Given the description of an element on the screen output the (x, y) to click on. 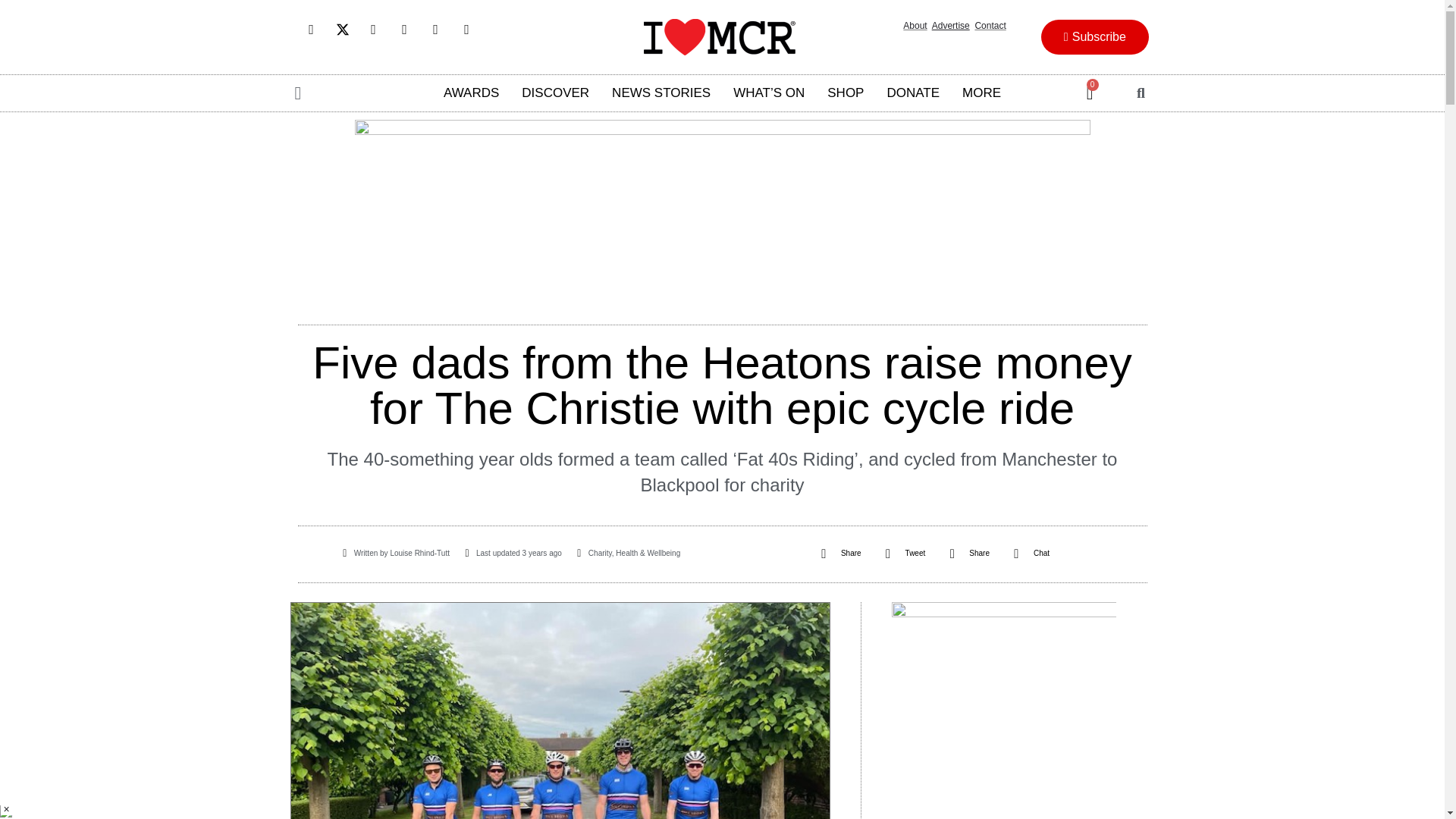
Advertise (950, 25)
DISCOVER (555, 93)
close (6, 808)
Subscribe (1094, 36)
ilovemcr-website-logo 544 (718, 36)
Contact (990, 25)
AWARDS (471, 93)
About (914, 25)
